Given the description of an element on the screen output the (x, y) to click on. 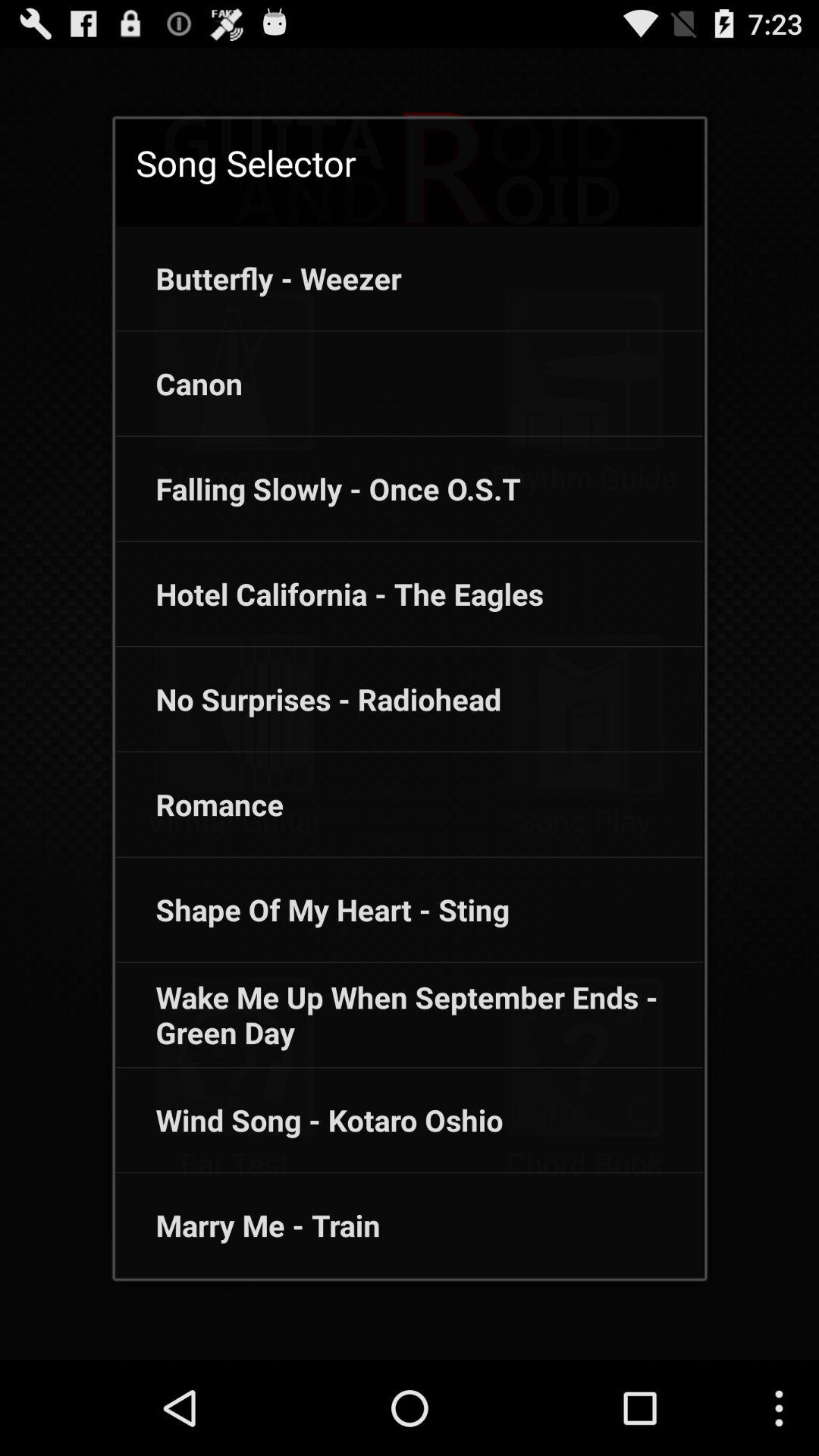
open wind song kotaro app (309, 1119)
